Given the description of an element on the screen output the (x, y) to click on. 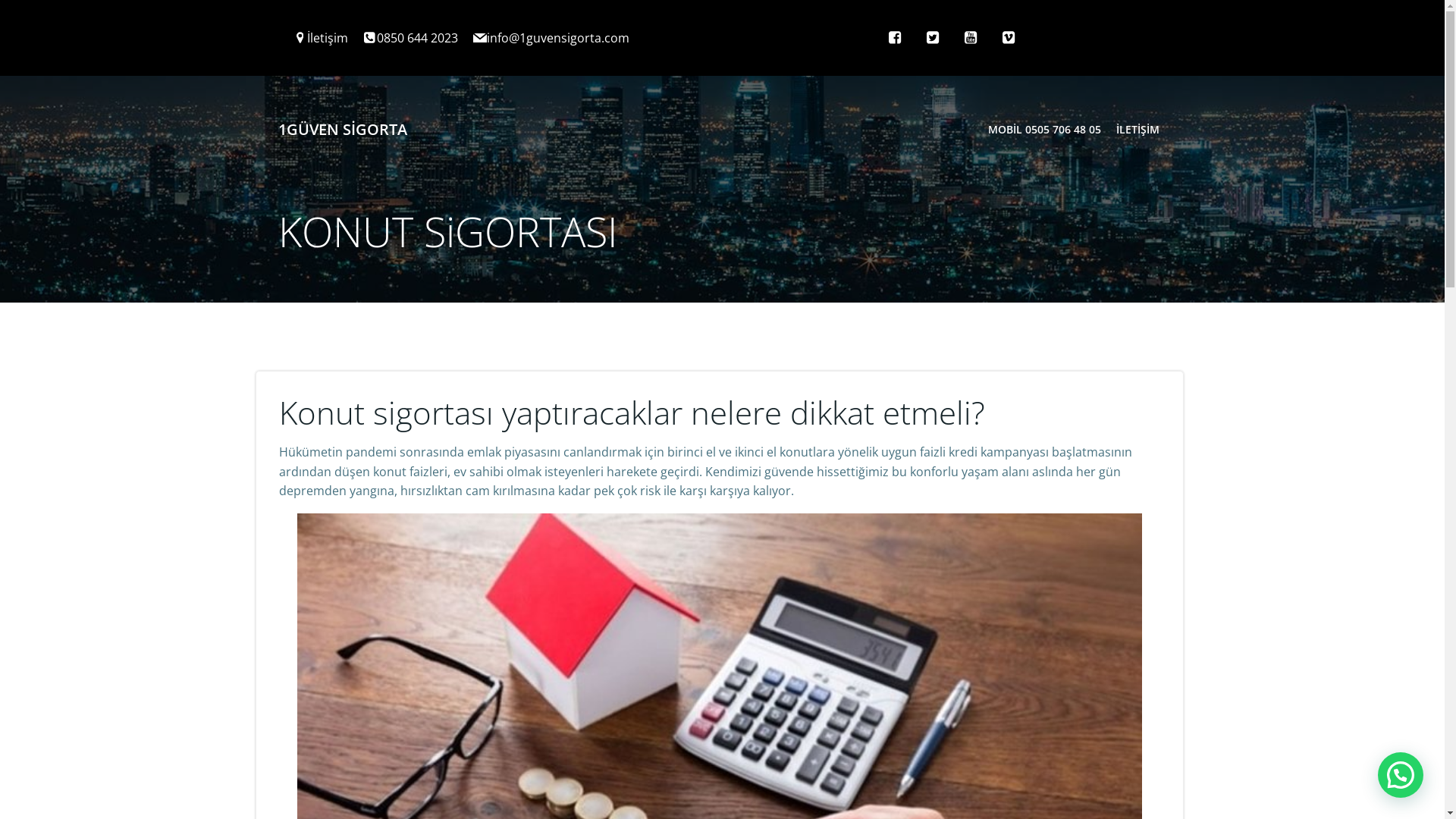
Colibri Element type: text (906, 221)
MOBIL 0505 706 48 05 Element type: text (1043, 129)
